Given the description of an element on the screen output the (x, y) to click on. 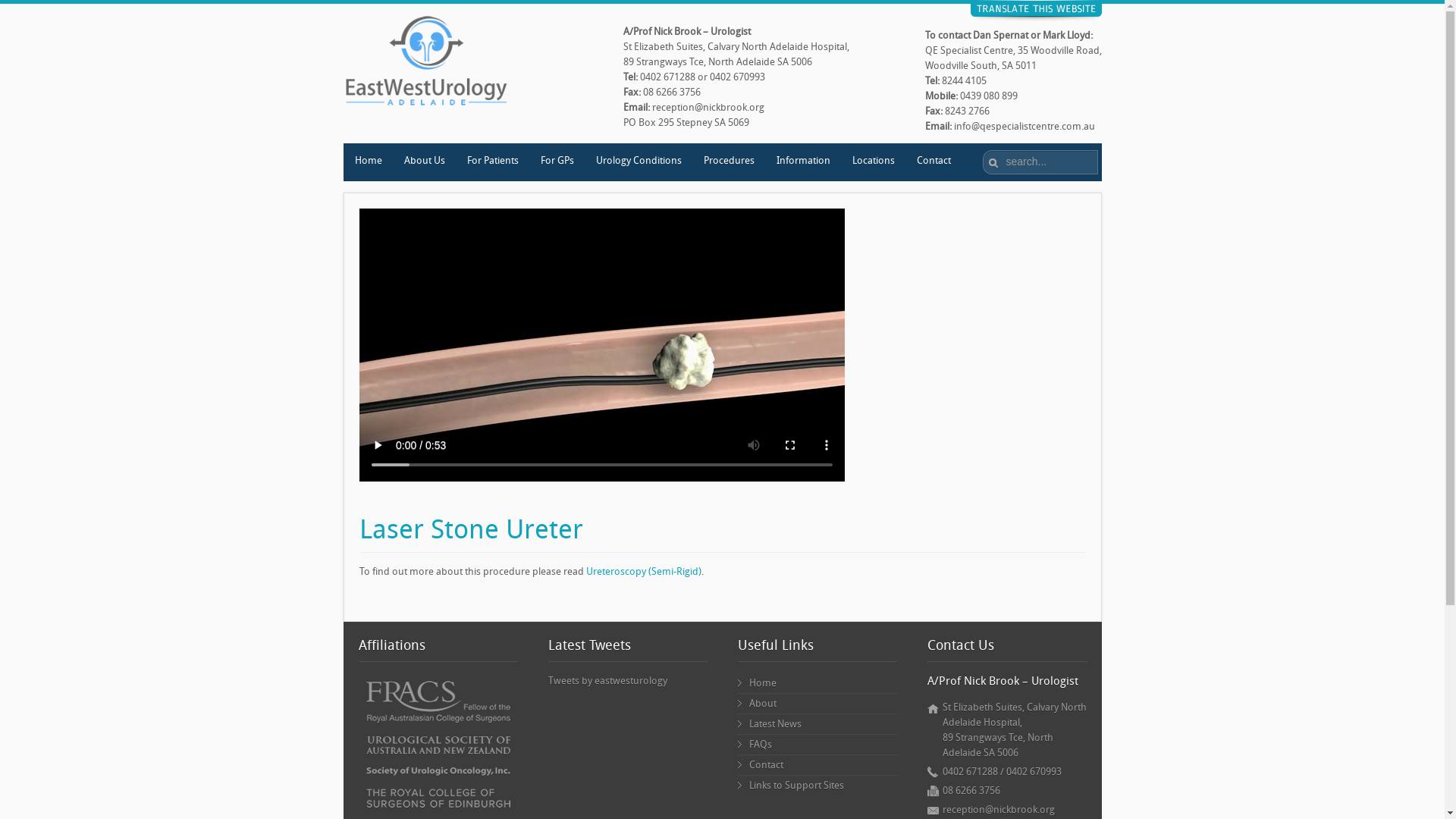
0402 670993 Element type: text (737, 76)
0402 670993 Element type: text (1032, 771)
Latest News Element type: text (816, 724)
Reset Element type: text (8, 9)
Locations Element type: text (872, 162)
8244 4105 Element type: text (963, 80)
Ureteroscopy (Semi-Rigid) Element type: text (642, 571)
8243 2766 Element type: text (966, 110)
reception@nickbrook.org Element type: text (708, 106)
Tweets by eastwesturology Element type: text (606, 680)
For Patients Element type: text (491, 162)
FAQs Element type: text (816, 744)
Links to Support Sites Element type: text (816, 785)
Home Element type: text (367, 162)
Contact Element type: text (933, 162)
08 6266 3756 Element type: text (970, 790)
info@qespecialistcentre.com.au Element type: text (1024, 125)
0439 080 899 Element type: text (988, 95)
For GPs Element type: text (556, 162)
Contact Element type: text (816, 765)
0402 671288 Element type: text (969, 771)
About Element type: text (816, 703)
Home Element type: text (816, 683)
0402 671288 Element type: text (667, 76)
08 6266 3756 Element type: text (671, 91)
reception@nickbrook.org Element type: text (997, 809)
